Given the description of an element on the screen output the (x, y) to click on. 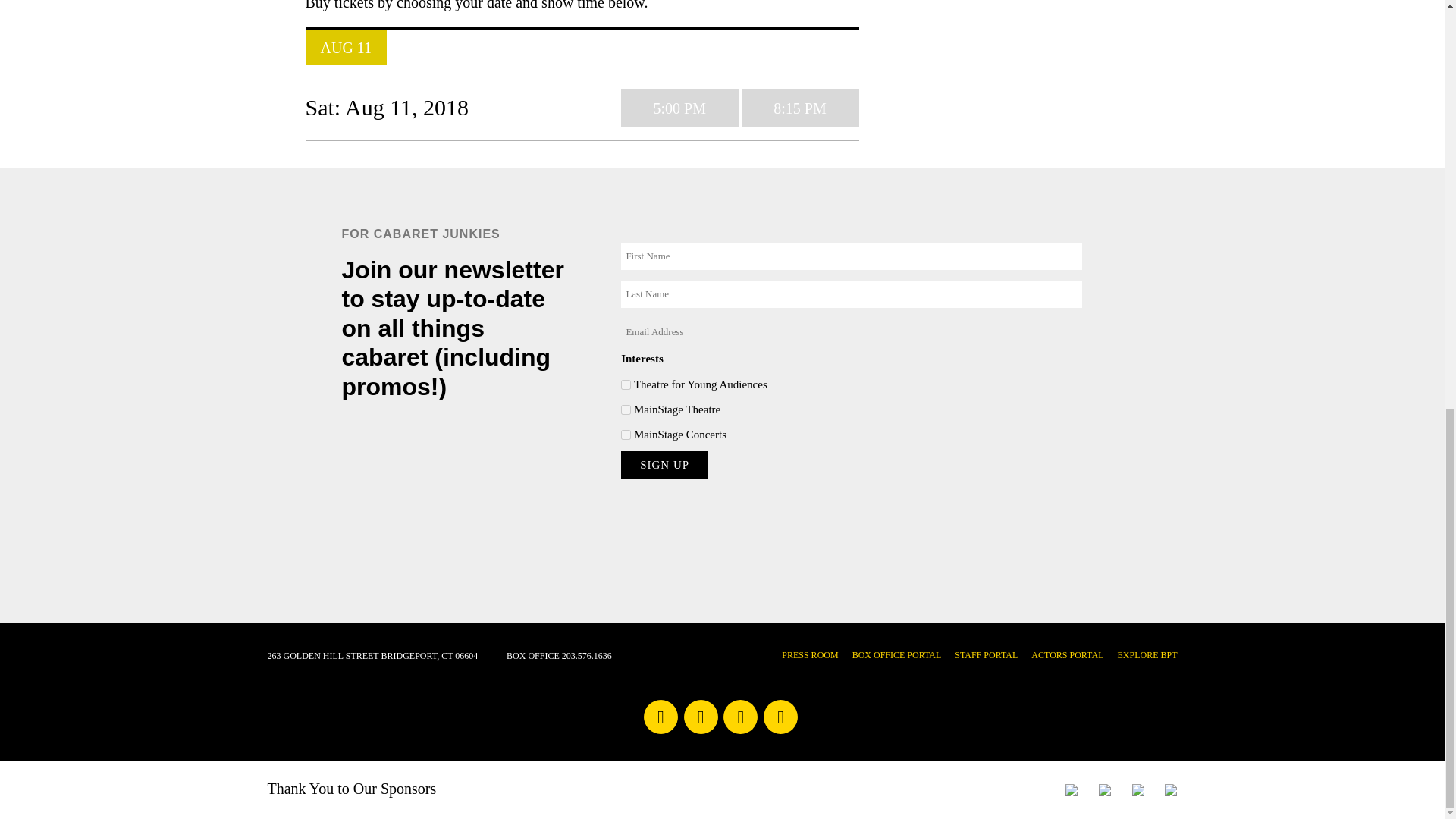
8:15 PM SHOW SOLDOUT (800, 108)
5:00 PM SHOW SOLDOUT (679, 108)
on (625, 384)
on (625, 434)
on (625, 409)
